Given the description of an element on the screen output the (x, y) to click on. 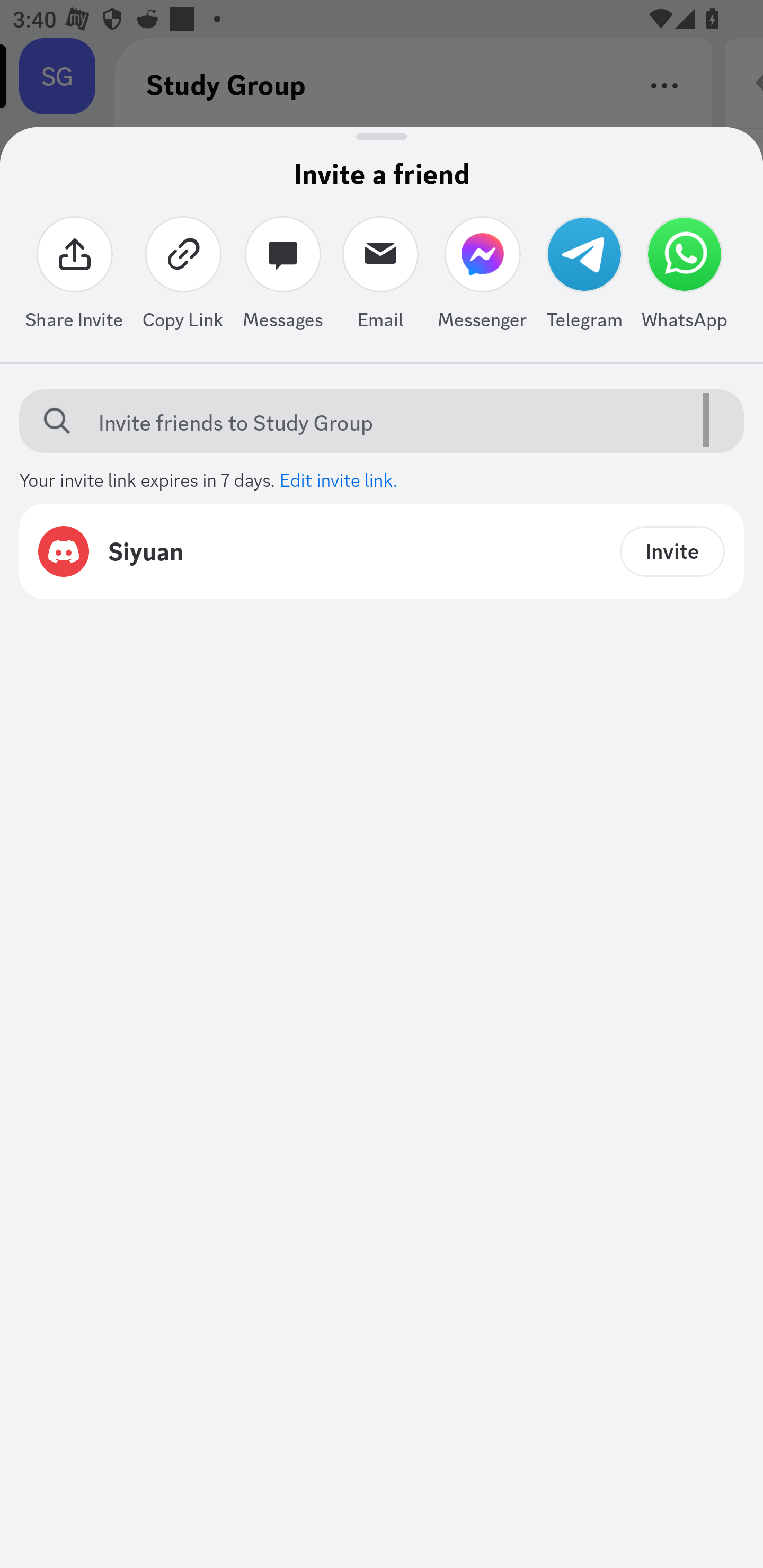
Share Invite (74, 276)
Copy Link (182, 276)
Messages (282, 276)
Email (380, 276)
Messenger (482, 276)
Telegram (584, 276)
WhatsApp (684, 276)
Invite friends to Study Group (397, 422)
Edit invite link. (339, 477)
Siyuan Siyuan Invite Invite (381, 550)
Invite (671, 551)
